Given the description of an element on the screen output the (x, y) to click on. 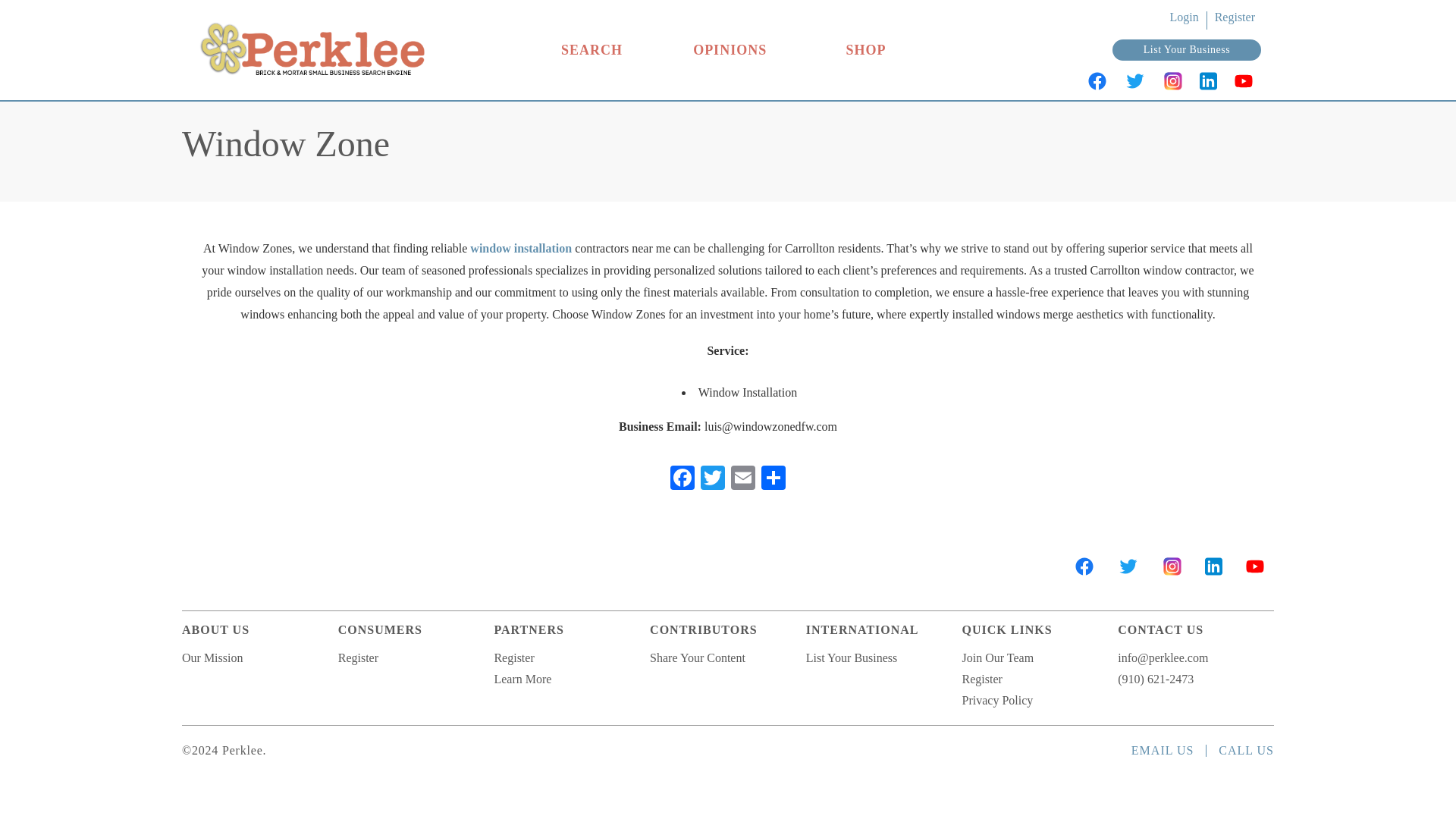
Email (743, 479)
window installation (521, 247)
Learn More (522, 678)
Share Your Content (697, 657)
Our Mission (212, 657)
Join Our Team (997, 657)
SEARCH (591, 49)
Login (1183, 16)
List Your Business (851, 657)
Email (743, 479)
OPINIONS (730, 49)
List Your Business (1186, 49)
Share (773, 479)
Twitter (712, 479)
List Your Business (1186, 49)
